Given the description of an element on the screen output the (x, y) to click on. 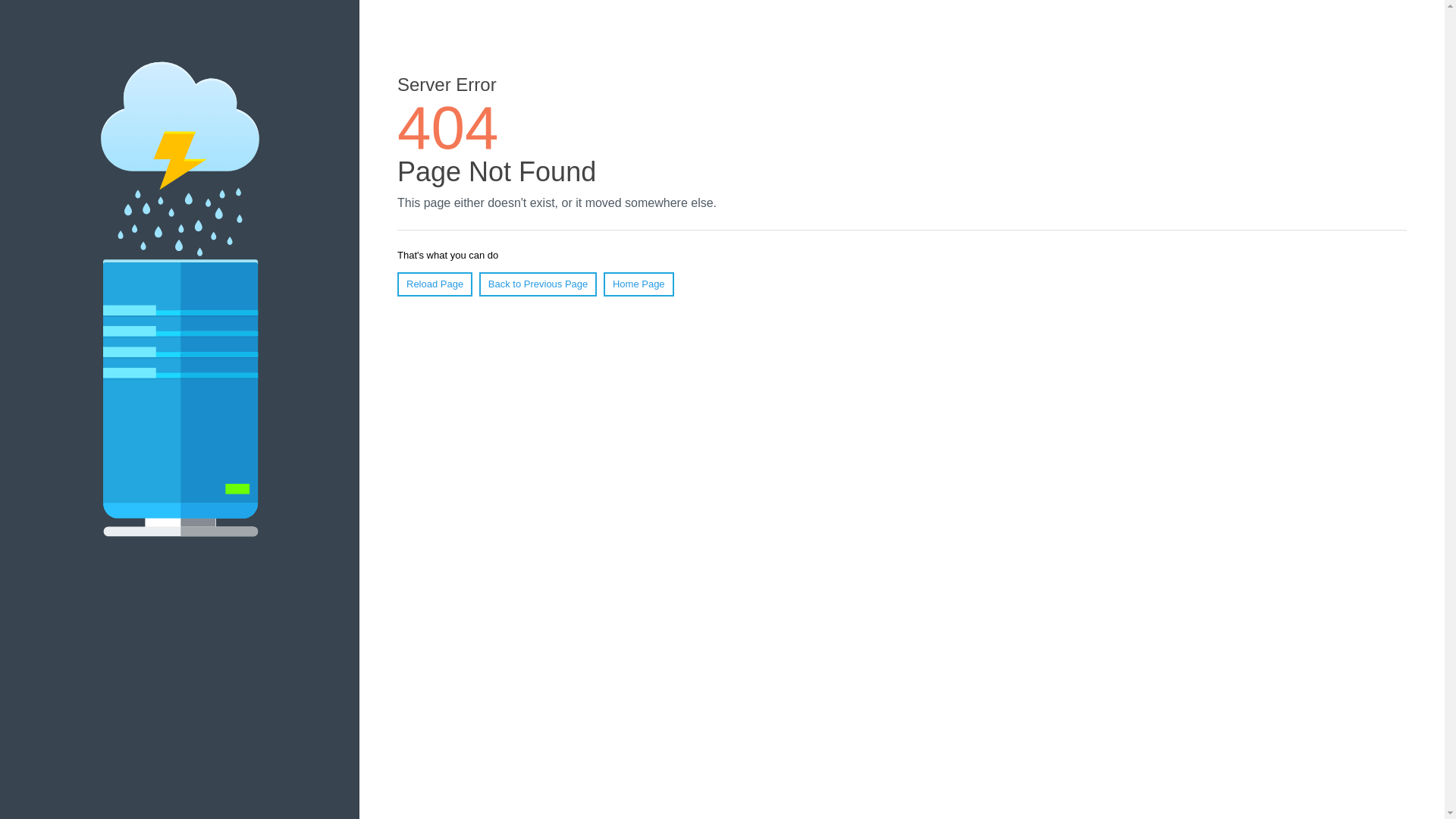
Back to Previous Page (537, 283)
Home Page (639, 283)
Reload Page (434, 283)
